Given the description of an element on the screen output the (x, y) to click on. 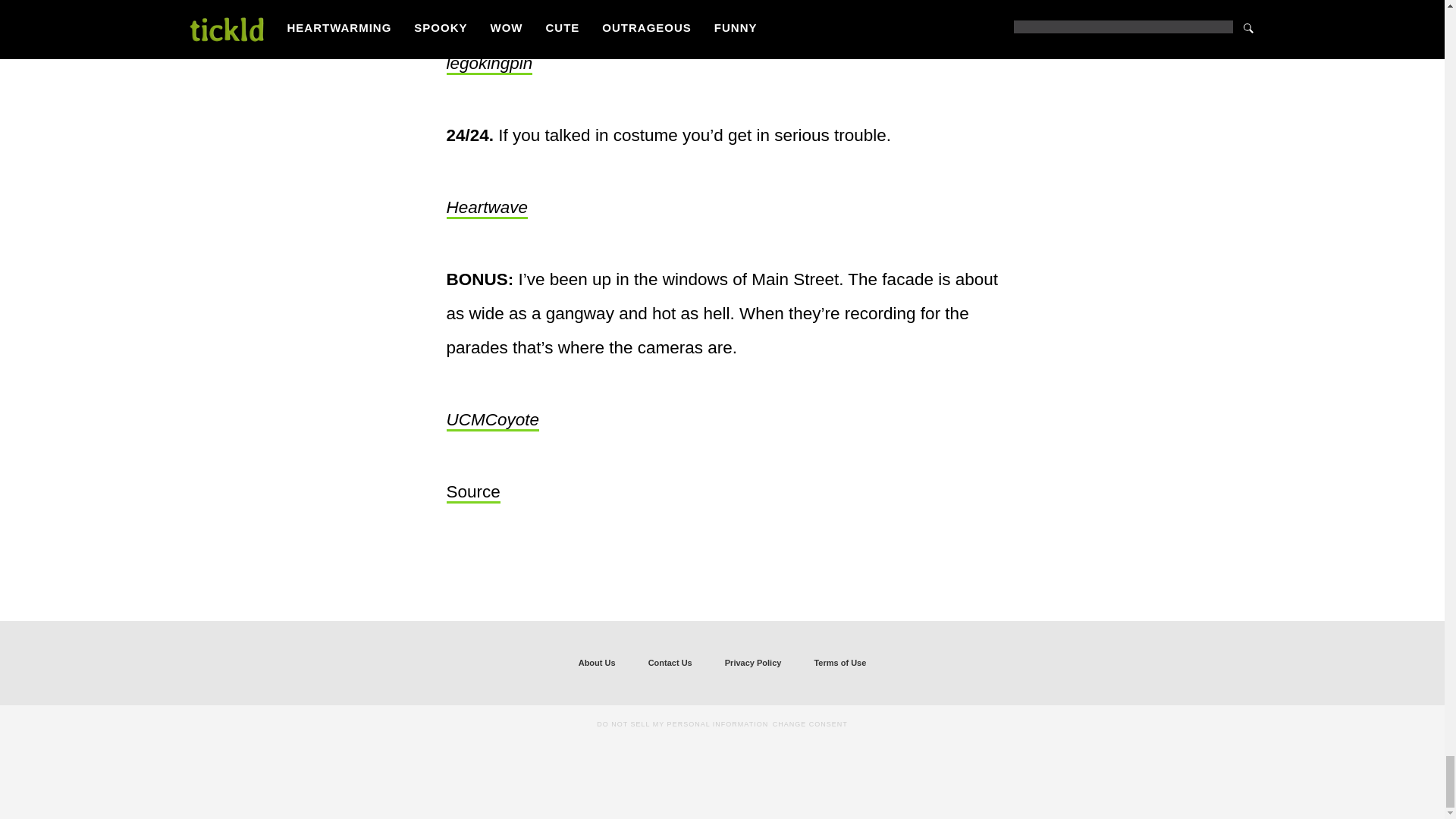
Source (472, 492)
UCMCoyote (491, 420)
legokingpin (488, 64)
Heartwave (486, 208)
